Given the description of an element on the screen output the (x, y) to click on. 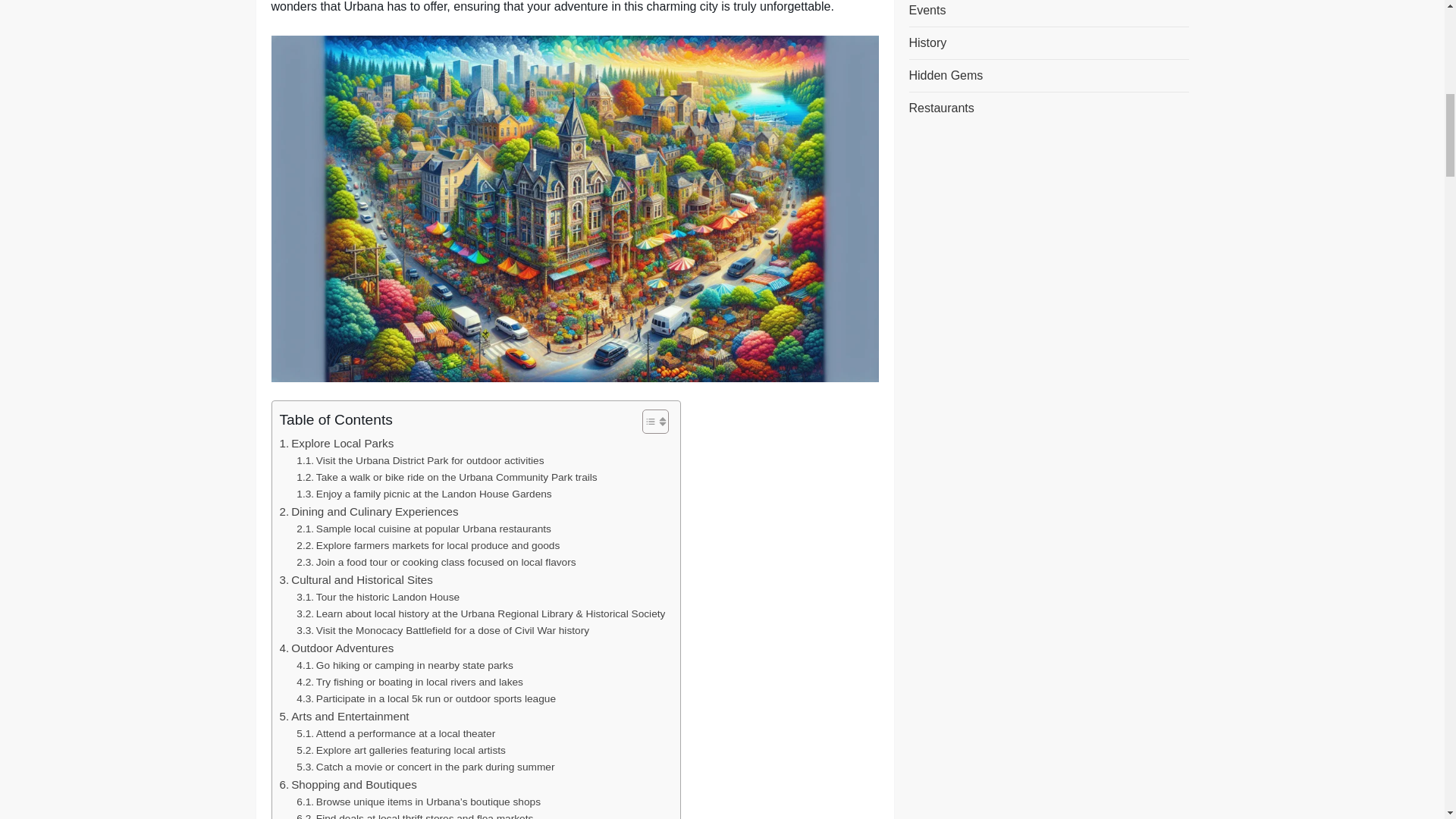
Explore Local Parks (336, 443)
Outdoor Adventures (336, 648)
Cultural and Historical Sites (355, 579)
Dining and Culinary Experiences (368, 511)
Arts and Entertainment (344, 716)
Enjoy a family picnic at the Landon House Gardens (424, 494)
Try fishing or boating in local rivers and lakes (409, 682)
Join a food tour or cooking class focused on local flavors (436, 562)
Go hiking or camping in nearby state parks (404, 665)
Participate in a local 5k run or outdoor sports league (426, 699)
